Given the description of an element on the screen output the (x, y) to click on. 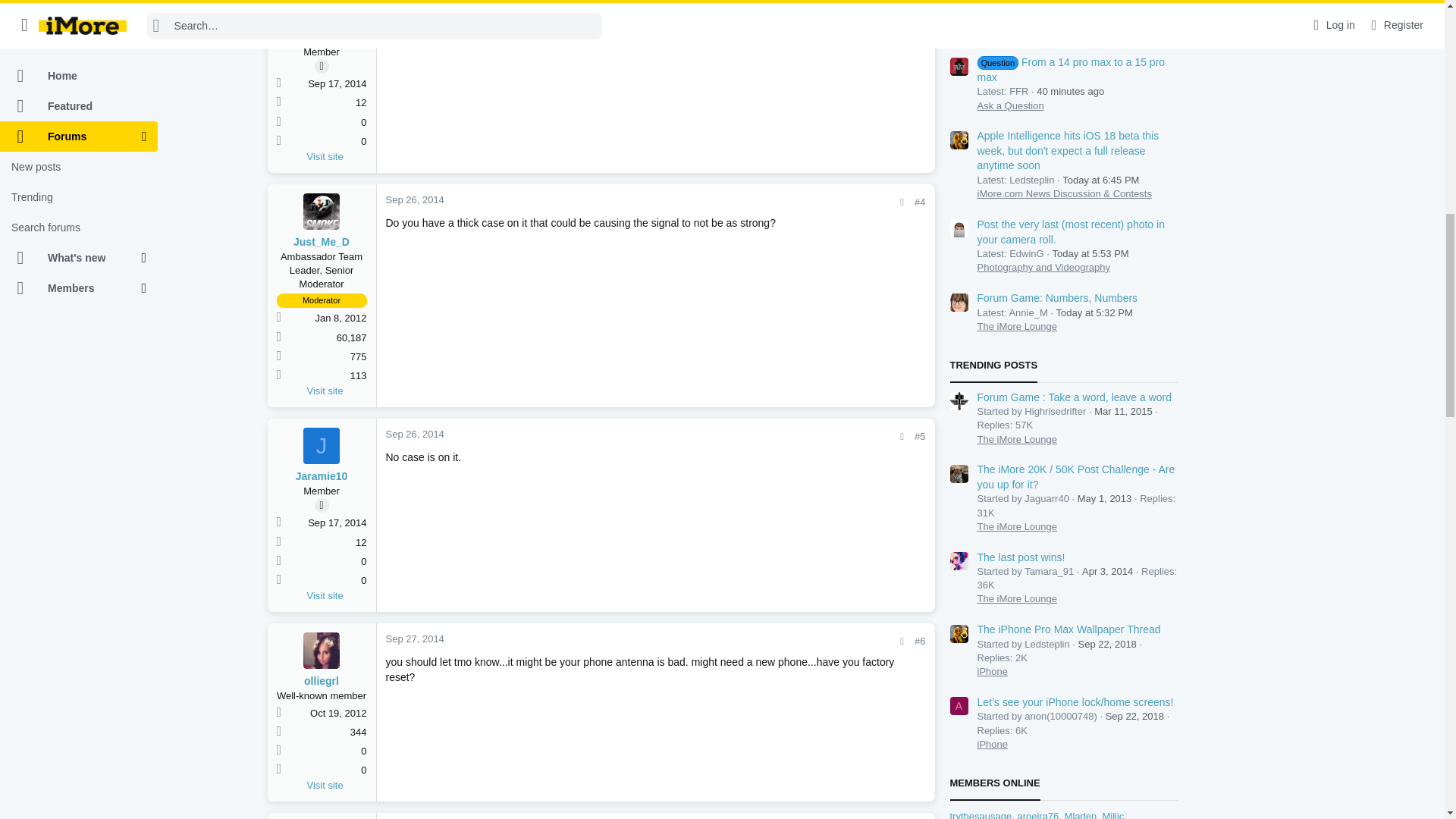
Sep 26, 2014 at 10:55 PM (414, 433)
Sep 27, 2014 at 1:09 AM (414, 638)
Sep 26, 2014 at 10:49 PM (414, 0)
Sep 26, 2014 at 10:52 PM (414, 199)
